Given the description of an element on the screen output the (x, y) to click on. 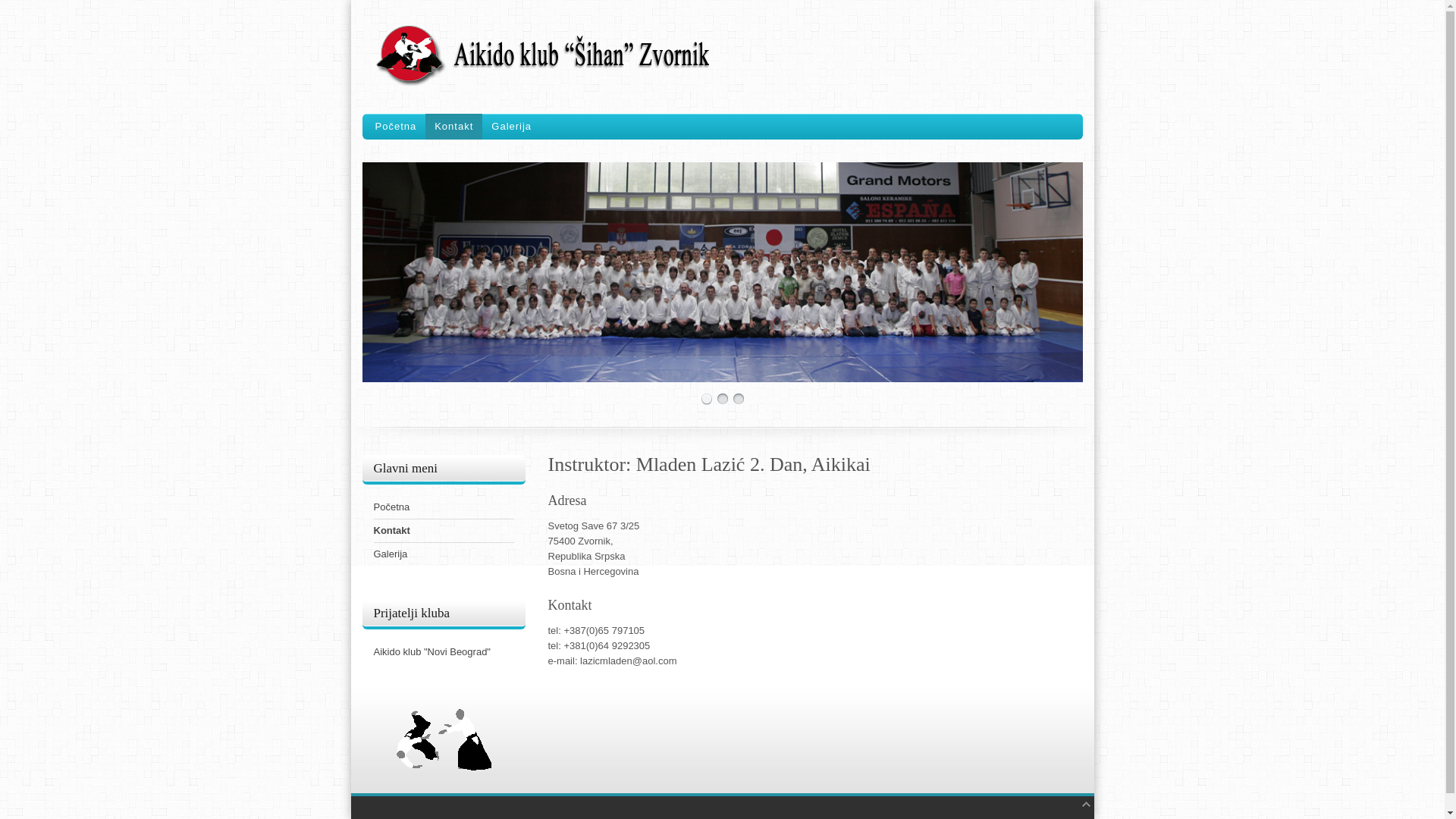
Kontakt Element type: text (443, 530)
Galerija Element type: text (443, 553)
Aikido klub "Novi Beograd" Element type: text (443, 651)
Kontakt Element type: text (453, 126)
Galerija Element type: text (511, 126)
